Given the description of an element on the screen output the (x, y) to click on. 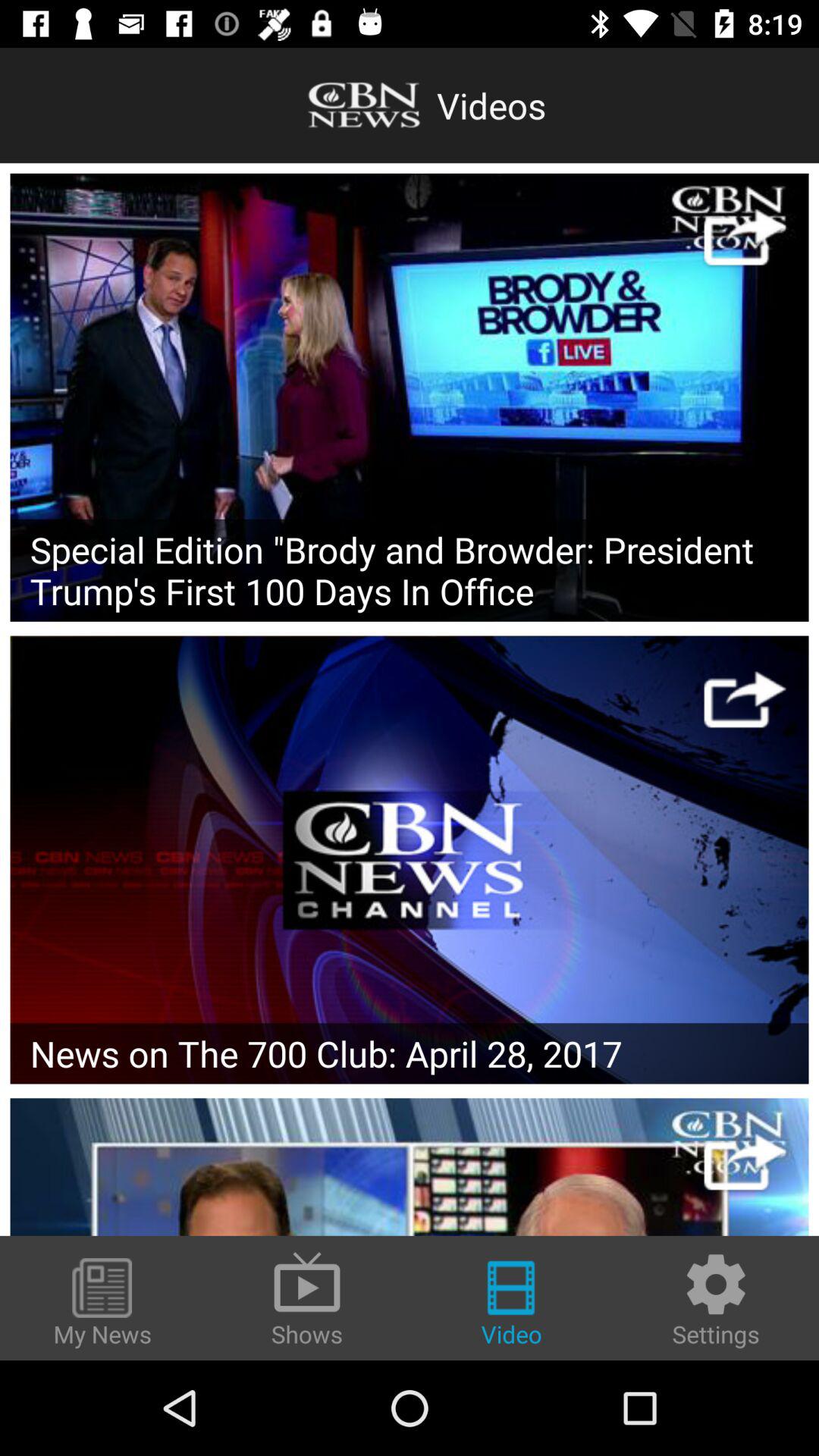
select channel (409, 859)
